Given the description of an element on the screen output the (x, y) to click on. 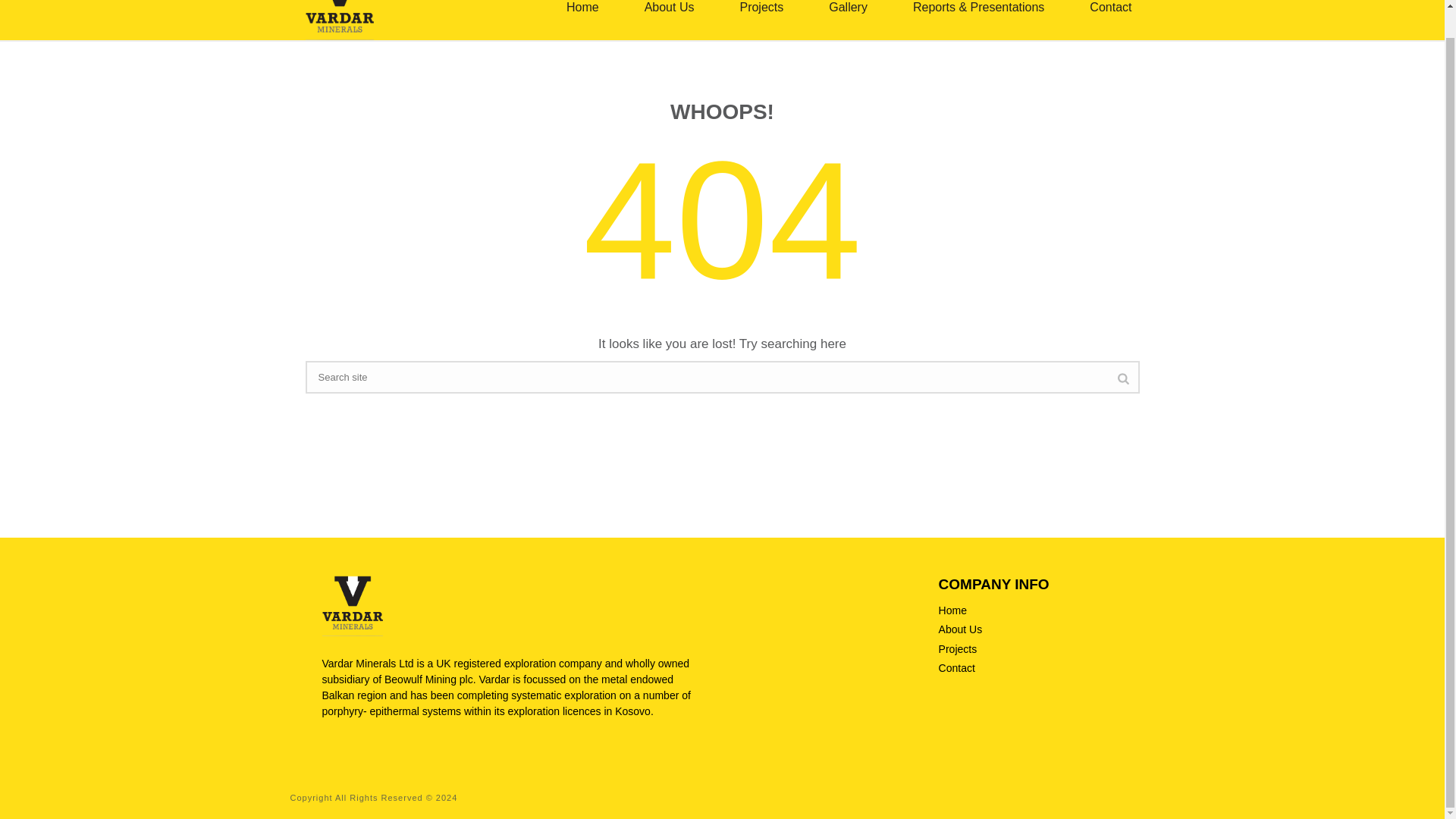
About Us (669, 20)
Projects (761, 20)
Projects (957, 648)
Gallery (847, 20)
Home (582, 20)
Gallery (847, 20)
About Us (669, 20)
Home (582, 20)
Home (952, 610)
Projects (761, 20)
